Given the description of an element on the screen output the (x, y) to click on. 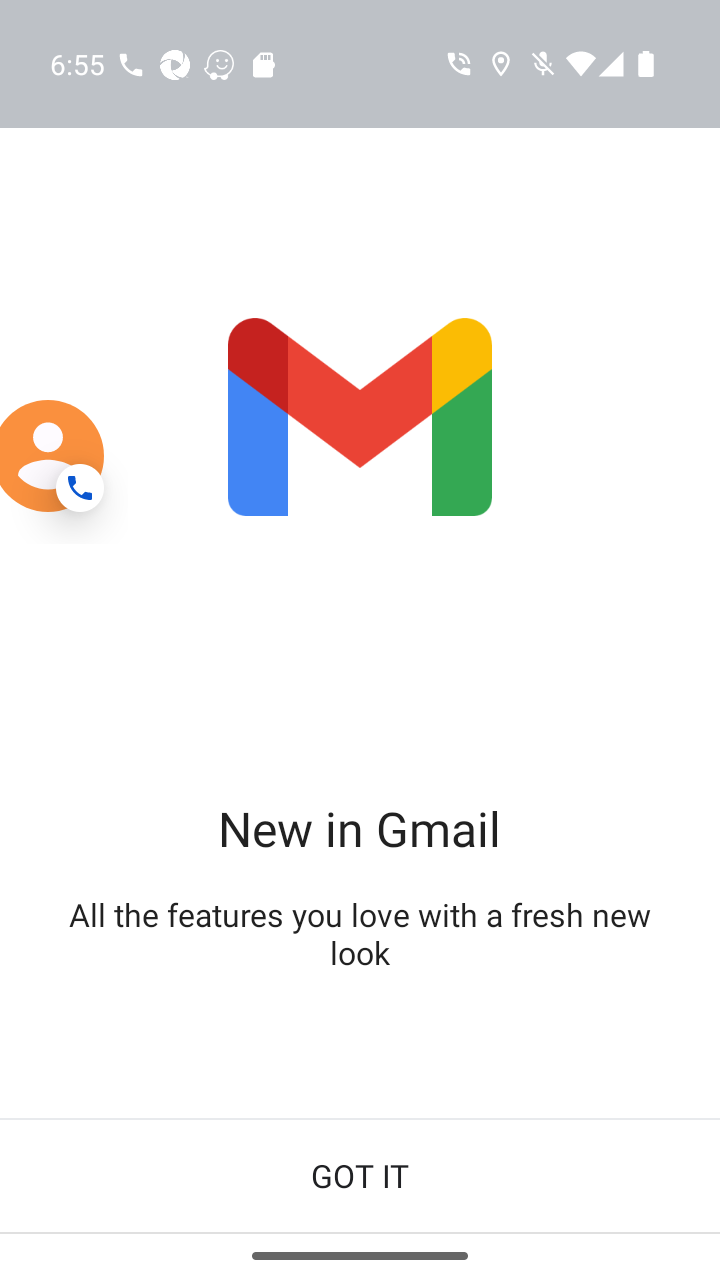
GOT IT (360, 1175)
